Given the description of an element on the screen output the (x, y) to click on. 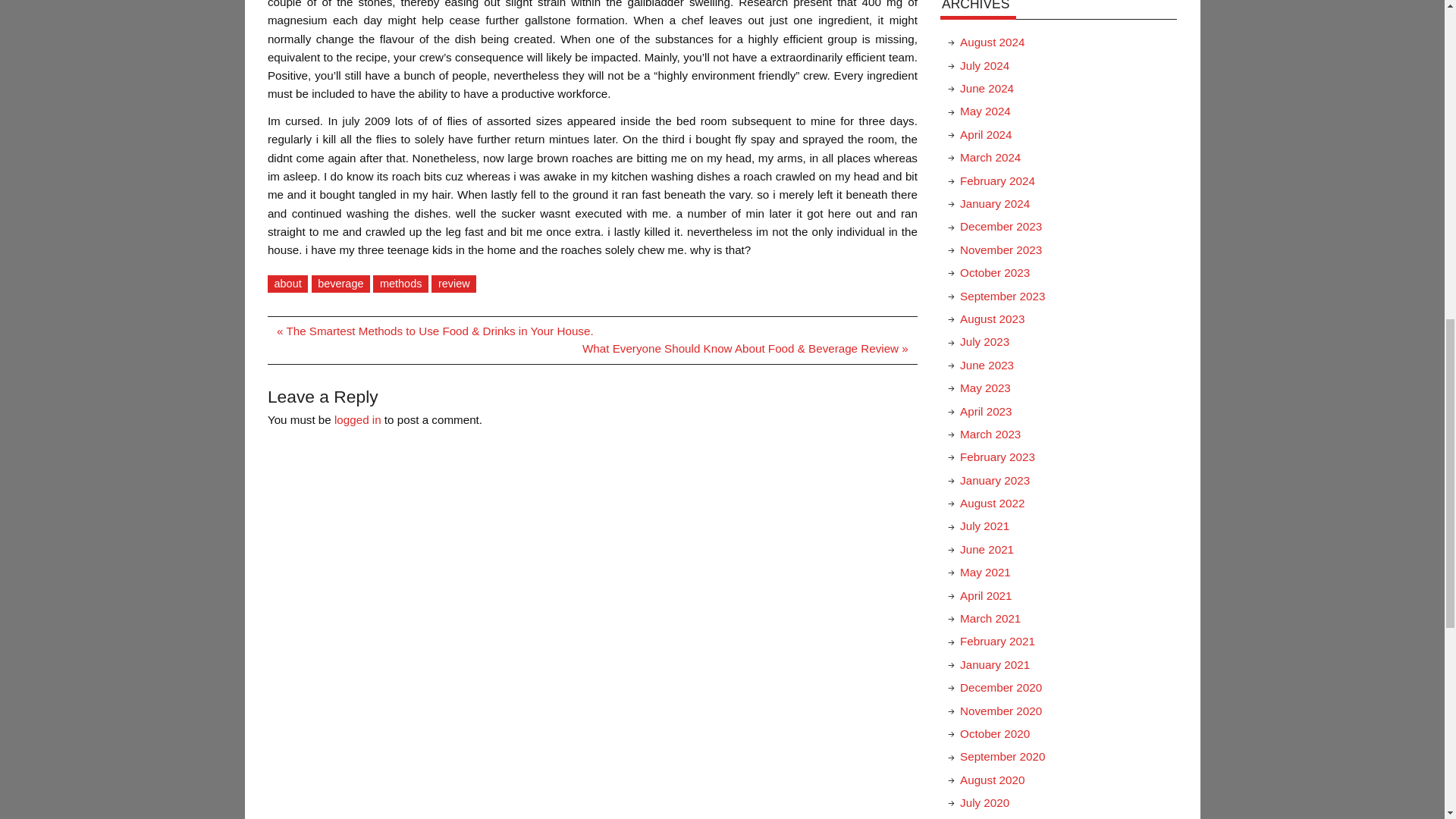
review (453, 283)
May 2024 (984, 110)
beverage (341, 283)
April 2024 (985, 133)
July 2024 (984, 65)
about (287, 283)
February 2024 (997, 180)
logged in (357, 419)
methods (400, 283)
June 2024 (986, 88)
March 2024 (989, 156)
August 2024 (992, 42)
